Given the description of an element on the screen output the (x, y) to click on. 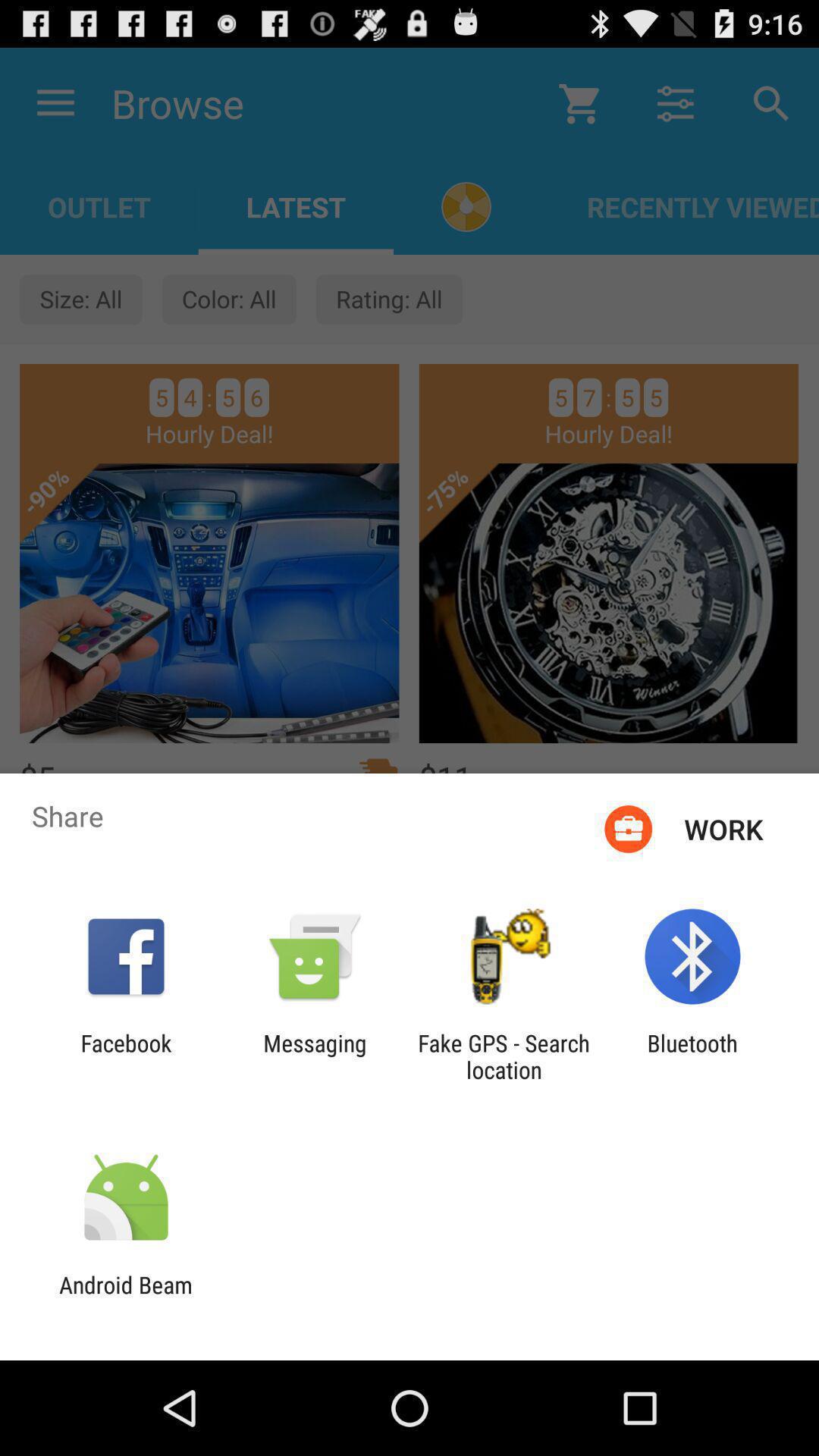
press app next to fake gps search item (314, 1056)
